Given the description of an element on the screen output the (x, y) to click on. 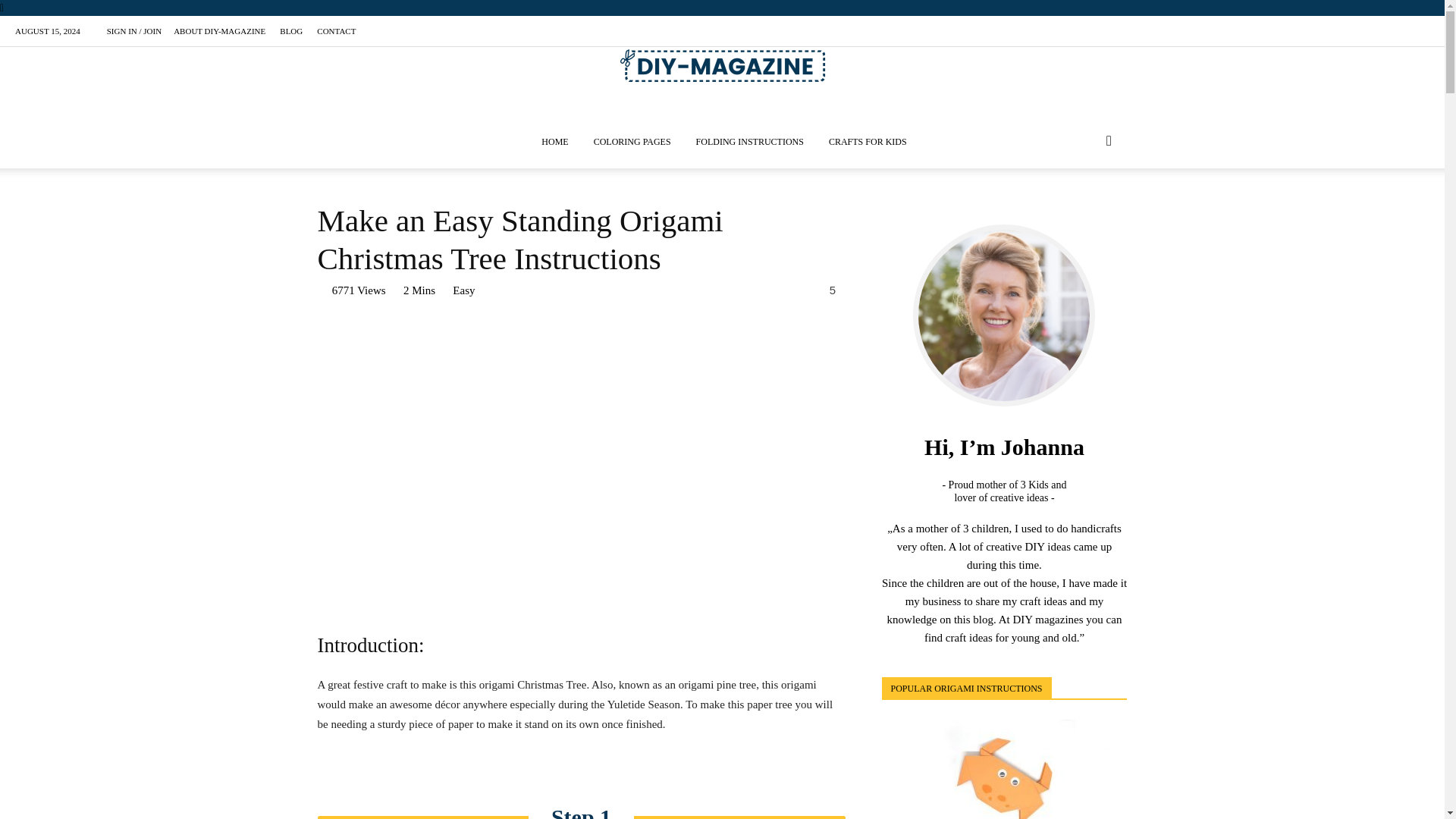
CONTACT (336, 31)
ABOUT DIY-MAGAZINE (218, 31)
Open Cookie Preferences (32, 799)
BLOG (290, 31)
